Given the description of an element on the screen output the (x, y) to click on. 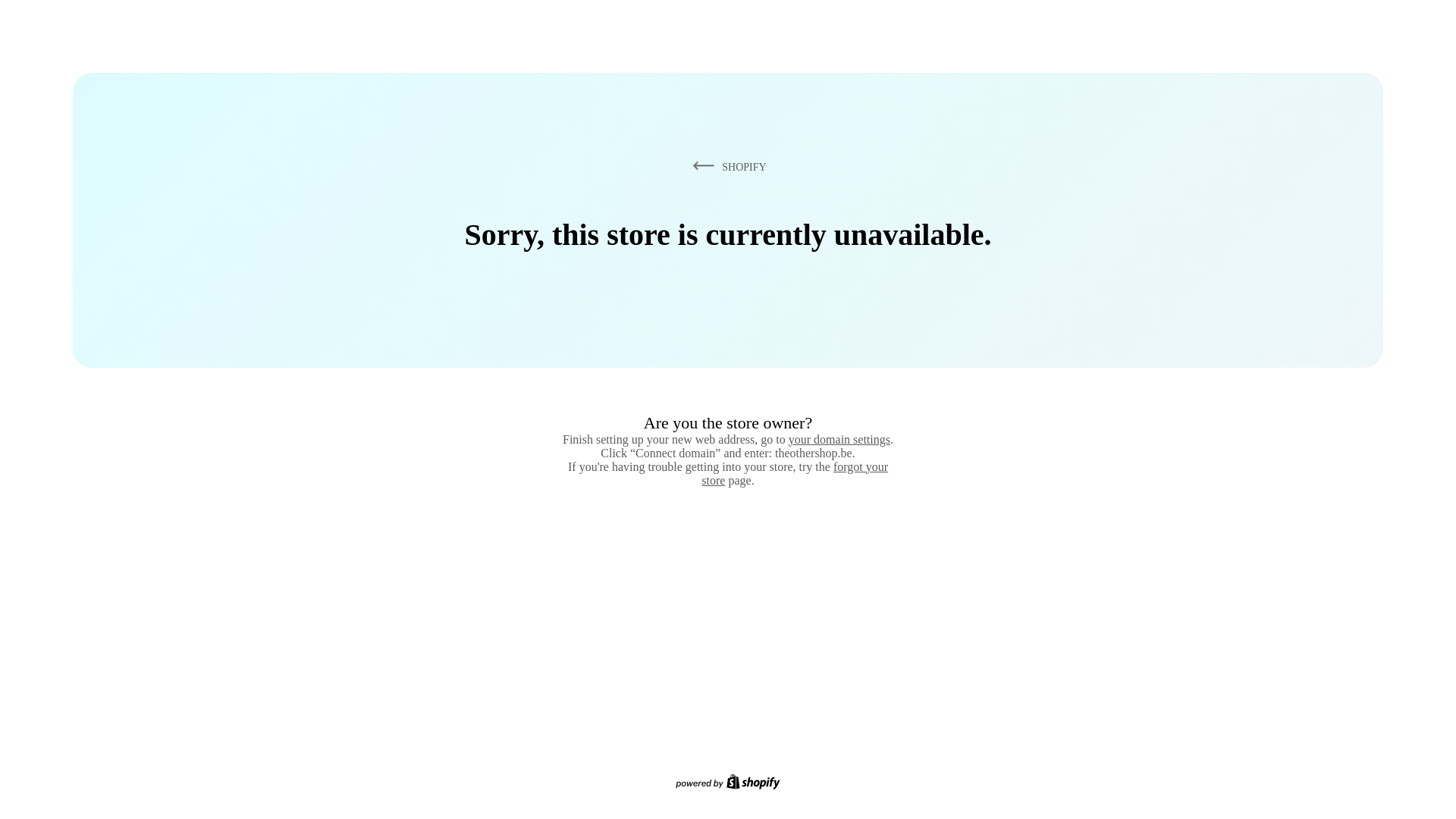
forgot your store (794, 473)
SHOPIFY (726, 166)
your domain settings (839, 439)
